Given the description of an element on the screen output the (x, y) to click on. 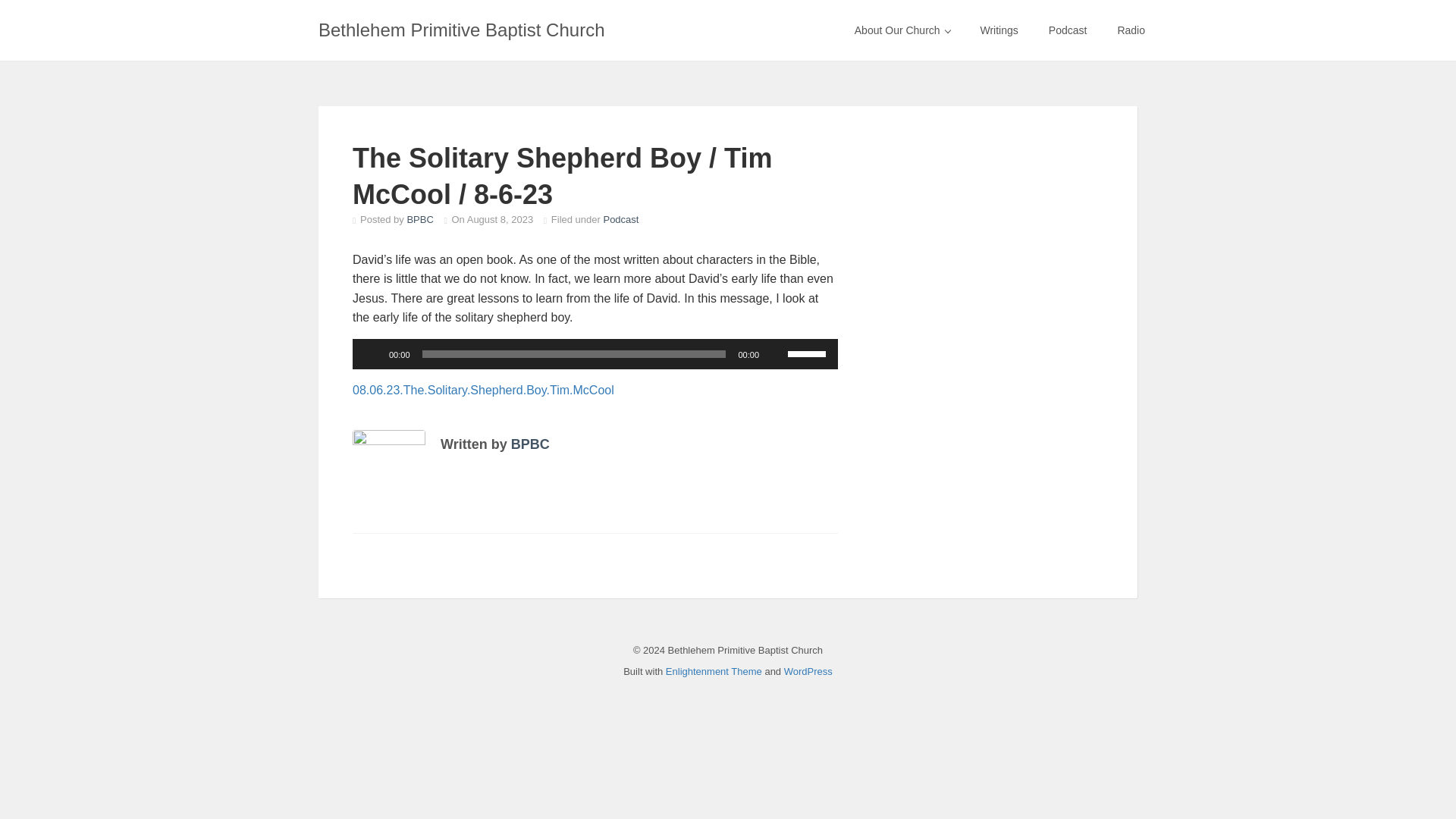
BPBC (419, 219)
Bethlehem Primitive Baptist Church (461, 30)
Posts by BPBC (530, 444)
Radio (1131, 30)
Play (372, 353)
BPBC (530, 444)
About Our Church (902, 30)
Podcast (620, 219)
Posts by BPBC (419, 219)
Podcast (1067, 30)
